Given the description of an element on the screen output the (x, y) to click on. 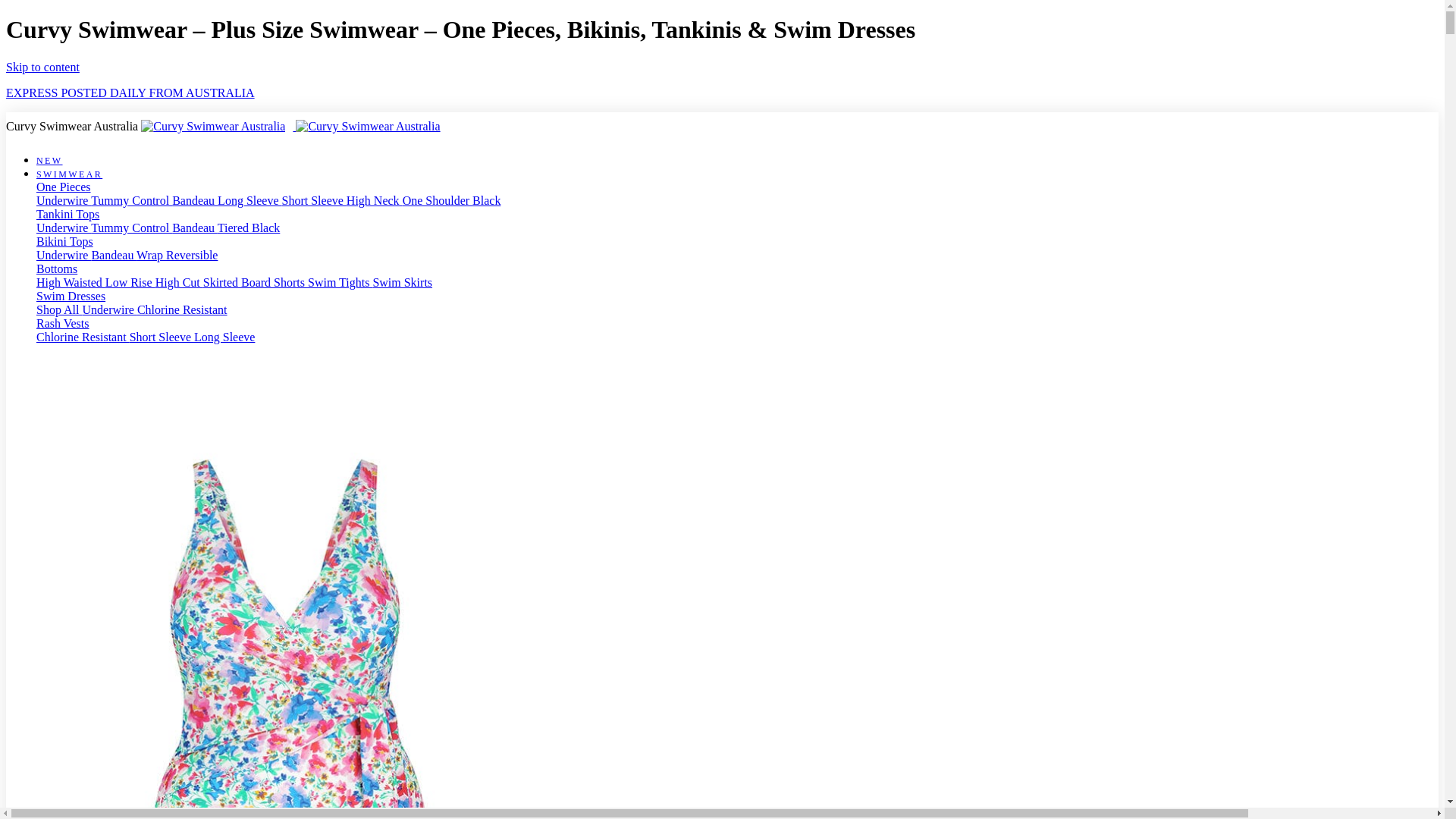
Underwire Element type: text (108, 309)
Skirted Element type: text (222, 282)
Low Rise Element type: text (130, 282)
Shop All Element type: text (58, 309)
Underwire Element type: text (63, 254)
NEW Element type: text (49, 160)
Swim Dresses Element type: text (70, 295)
One Pieces Element type: text (63, 186)
Bikini Tops Element type: text (64, 241)
Wrap Element type: text (151, 254)
Board Shorts Element type: text (274, 282)
Short Sleeve Element type: text (314, 200)
Tummy Control Element type: text (131, 227)
Black Element type: text (265, 227)
Long Sleeve Element type: text (224, 336)
EXPRESS POSTED DAILY FROM AUSTRALIA Element type: text (130, 92)
Reversible Element type: text (191, 254)
Black Element type: text (486, 200)
Underwire Element type: text (63, 227)
Swim Skirts Element type: text (402, 282)
Chlorine Resistant Element type: text (182, 309)
Bandeau Element type: text (194, 227)
Underwire Element type: text (63, 200)
Tankini Tops Element type: text (67, 213)
SWIMWEAR Element type: text (69, 174)
Bottoms Element type: text (56, 268)
Tummy Control Element type: text (131, 200)
Swim Tights Element type: text (339, 282)
Chlorine Resistant Element type: text (82, 336)
Short Sleeve Element type: text (161, 336)
Tiered Element type: text (234, 227)
Skip to content Element type: text (42, 66)
Bandeau Element type: text (113, 254)
High Waisted Element type: text (70, 282)
High Cut Element type: text (179, 282)
Bandeau Element type: text (194, 200)
High Neck Element type: text (374, 200)
Long Sleeve Element type: text (249, 200)
Rash Vests Element type: text (62, 322)
One Shoulder Element type: text (437, 200)
